Given the description of an element on the screen output the (x, y) to click on. 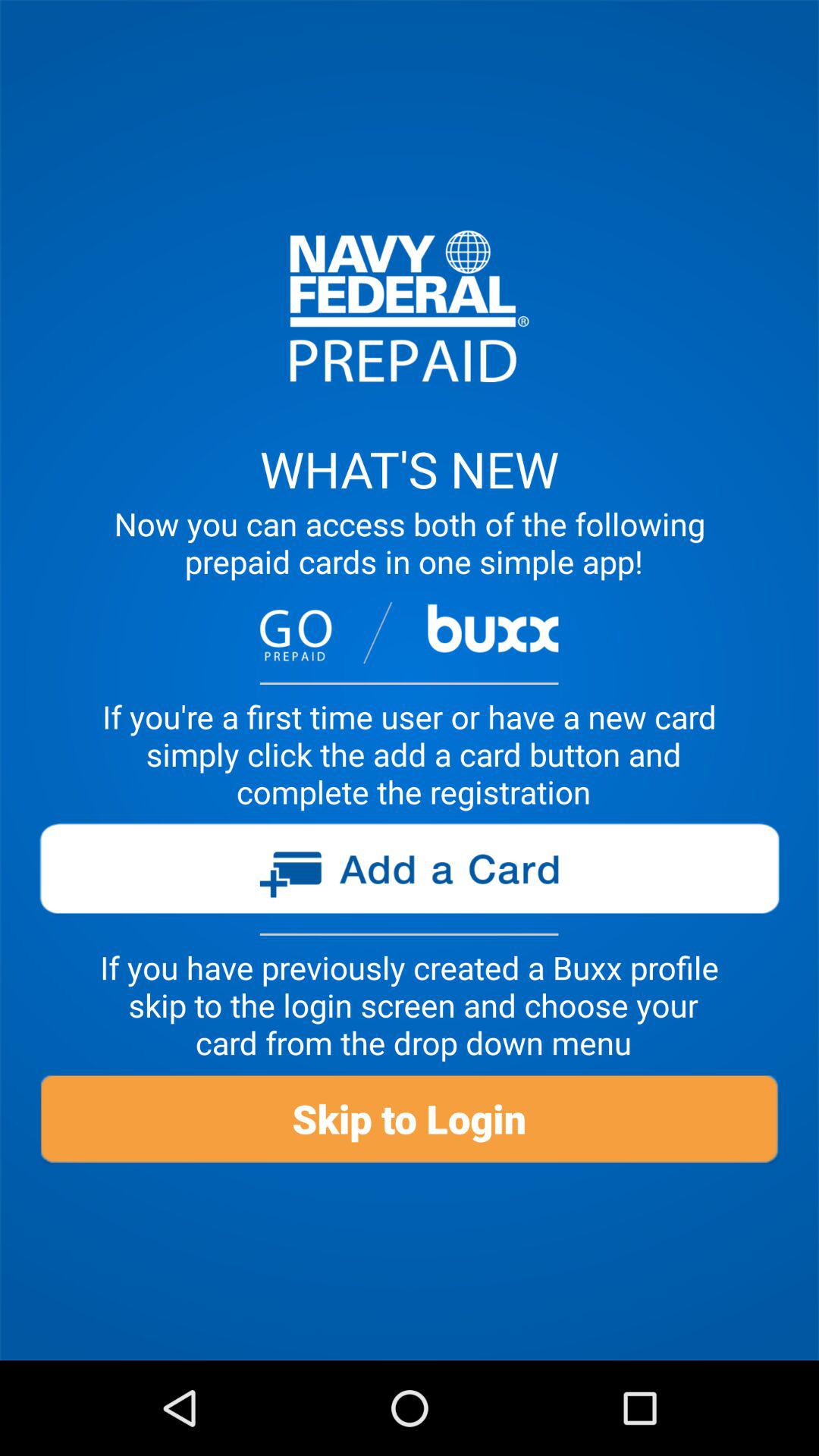
select item below the if you re (408, 874)
